Given the description of an element on the screen output the (x, y) to click on. 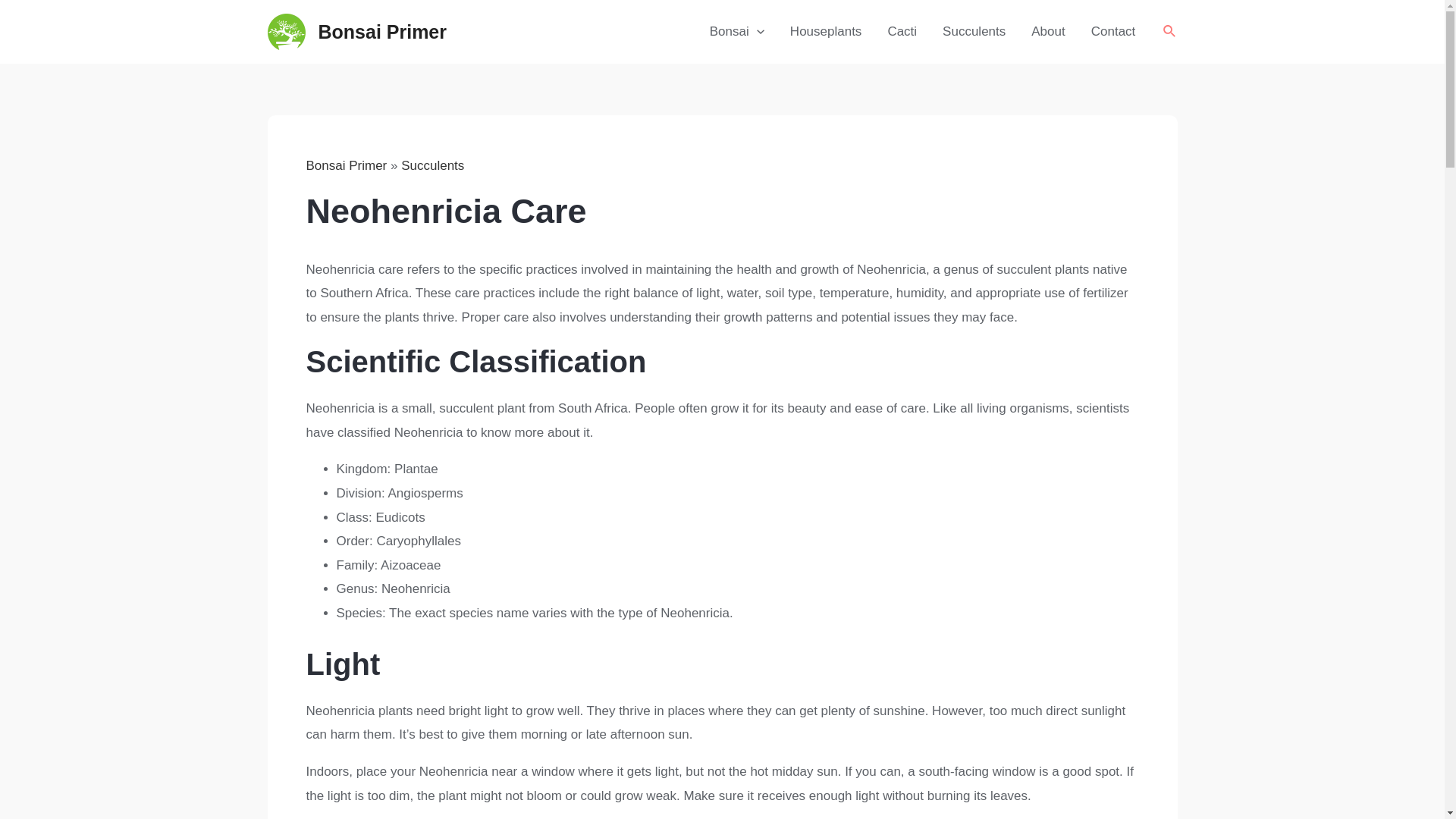
Houseplants (826, 31)
Cacti (902, 31)
Contact (1113, 31)
Bonsai (737, 31)
Bonsai Primer (346, 165)
Bonsai Primer (382, 31)
Succulents (432, 165)
Succulents (973, 31)
About (1047, 31)
